Given the description of an element on the screen output the (x, y) to click on. 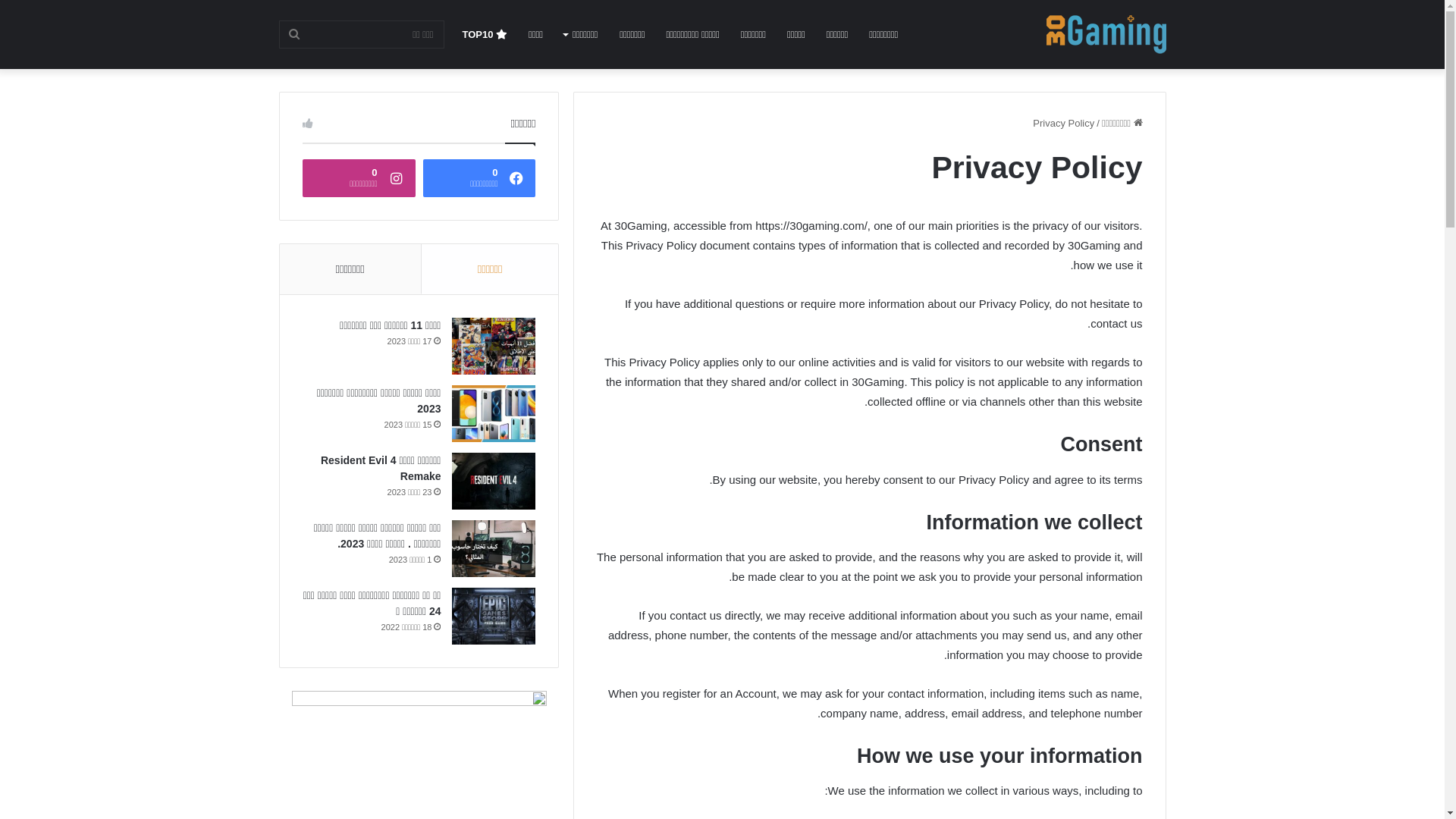
30Gaming Element type: hover (1106, 34)
TOP10 Element type: text (484, 34)
